Given the description of an element on the screen output the (x, y) to click on. 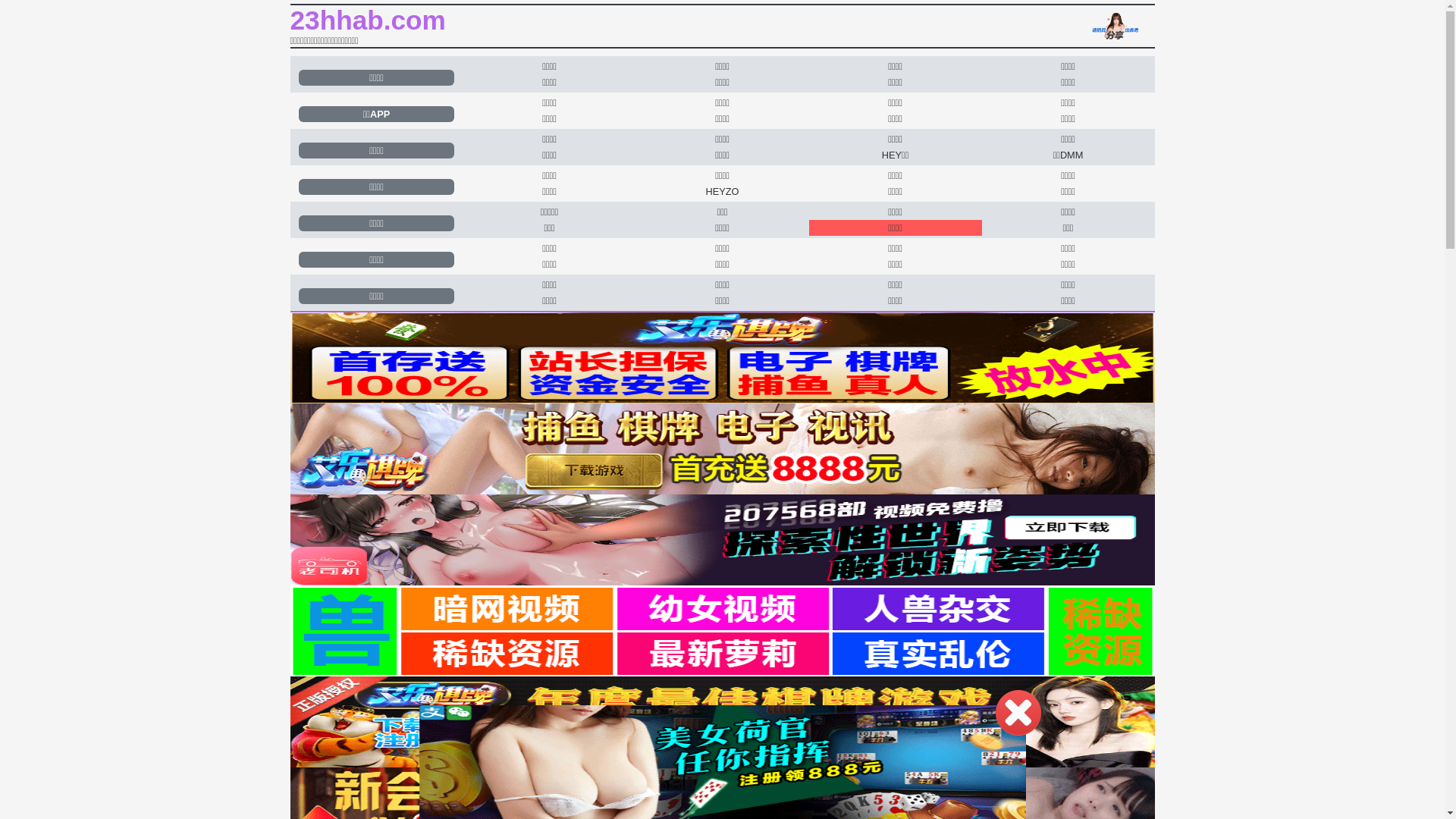
HEYZO Element type: text (722, 191)
